Given the description of an element on the screen output the (x, y) to click on. 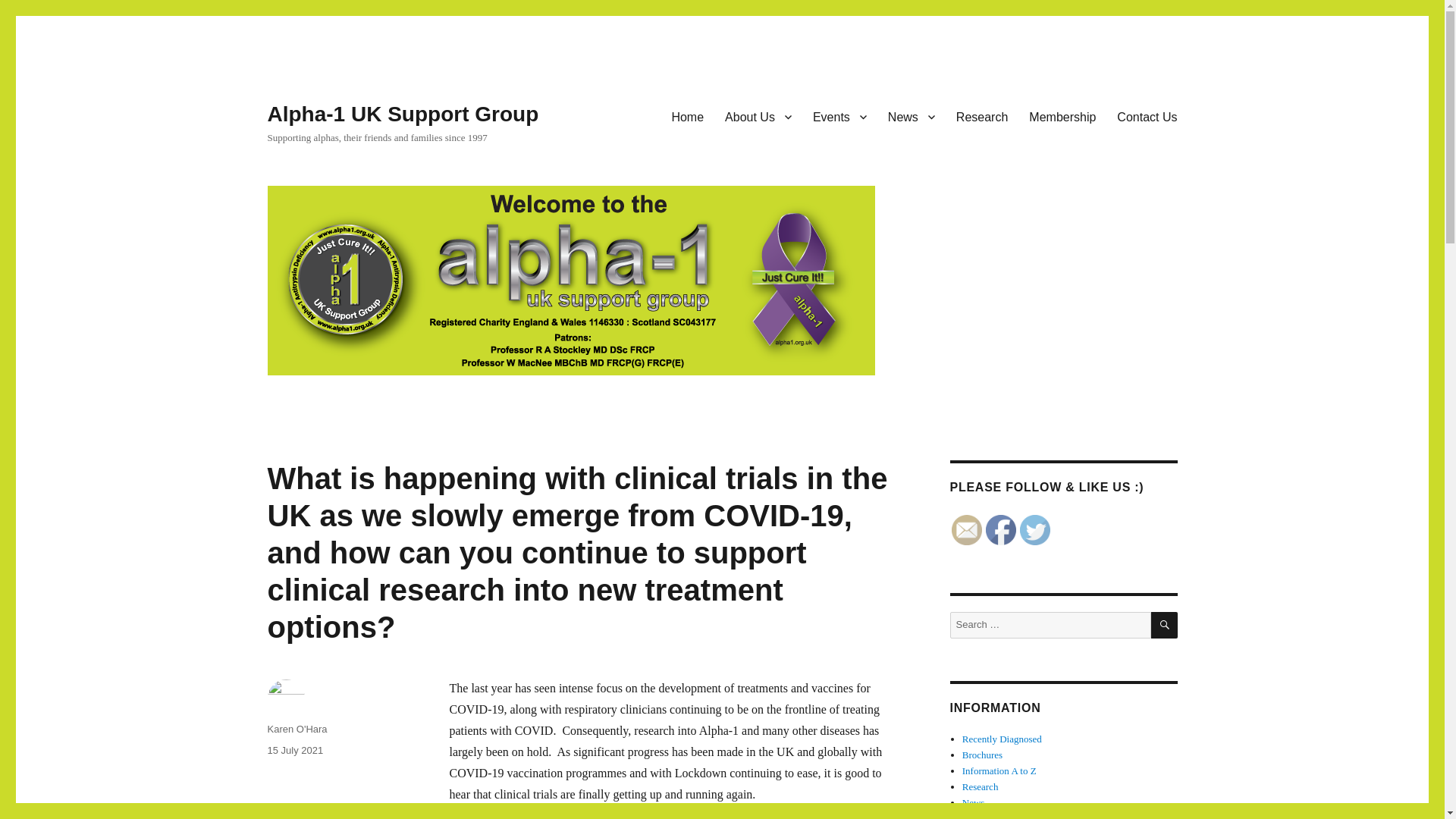
SEARCH (1164, 624)
15 July 2021 (294, 749)
News (910, 116)
Events (839, 116)
About Us (758, 116)
Recently Diagnosed (1002, 738)
Facebook (1000, 530)
Karen O'Hara (296, 728)
Contact Us (1147, 116)
Membership (1061, 116)
Brochures (982, 754)
Research (980, 116)
Twitter (1034, 530)
Follow by Email (966, 530)
Home (687, 116)
